Given the description of an element on the screen output the (x, y) to click on. 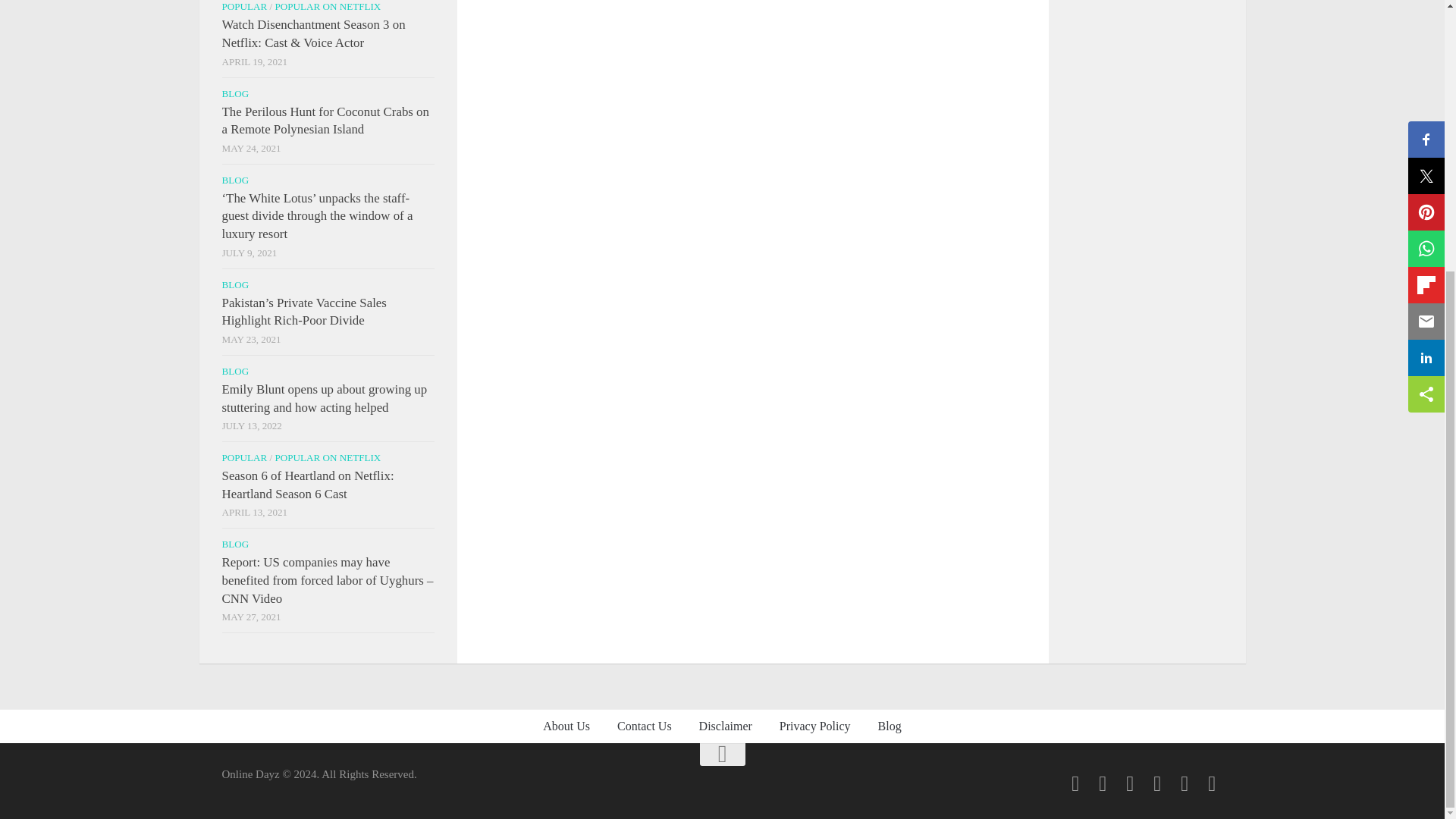
Follow us on Linkedin (1129, 783)
Follow us on Flipboard (1102, 783)
Follow us on Facebook (1075, 783)
